Given the description of an element on the screen output the (x, y) to click on. 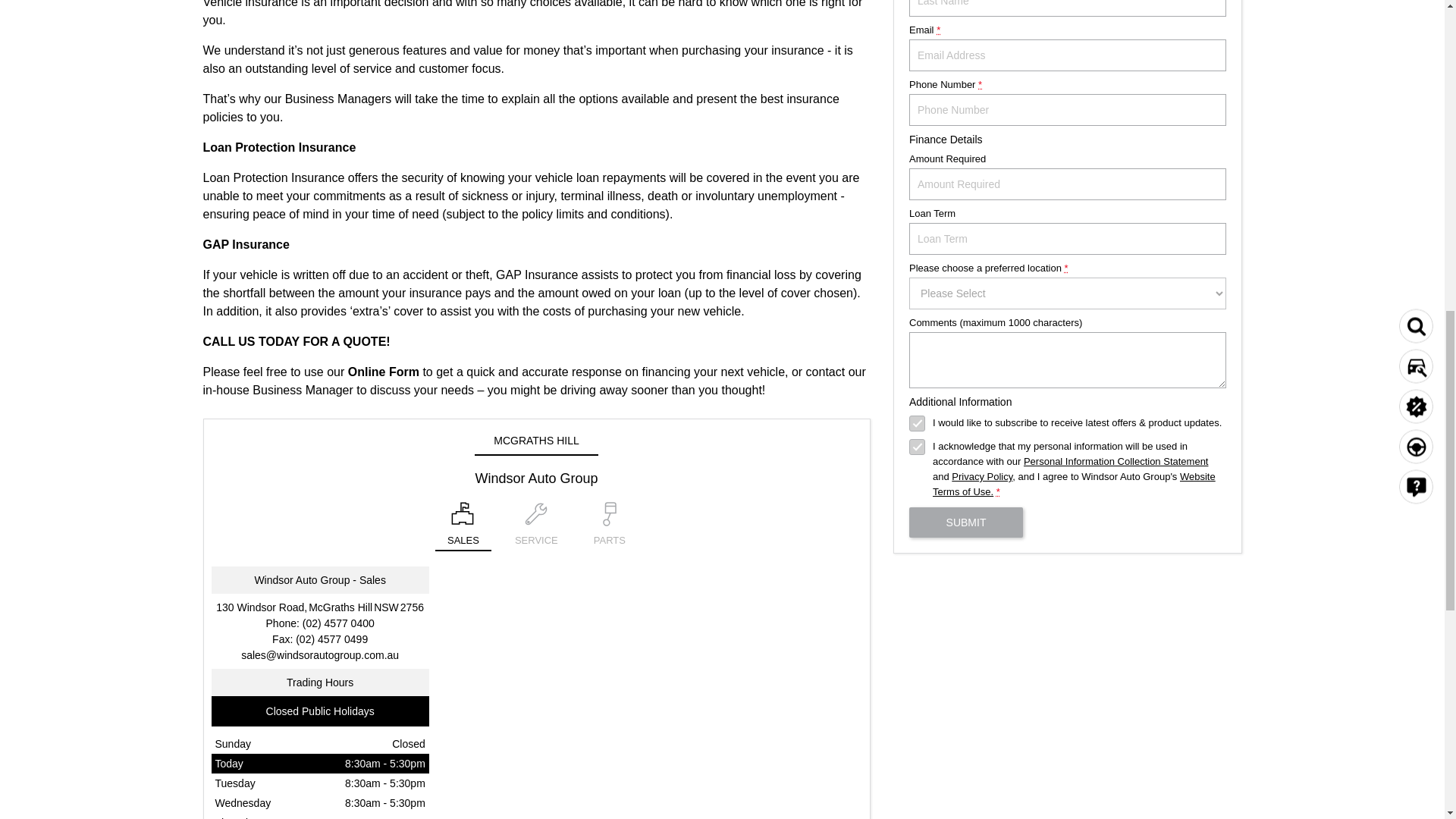
on (916, 423)
on (916, 446)
